Given the description of an element on the screen output the (x, y) to click on. 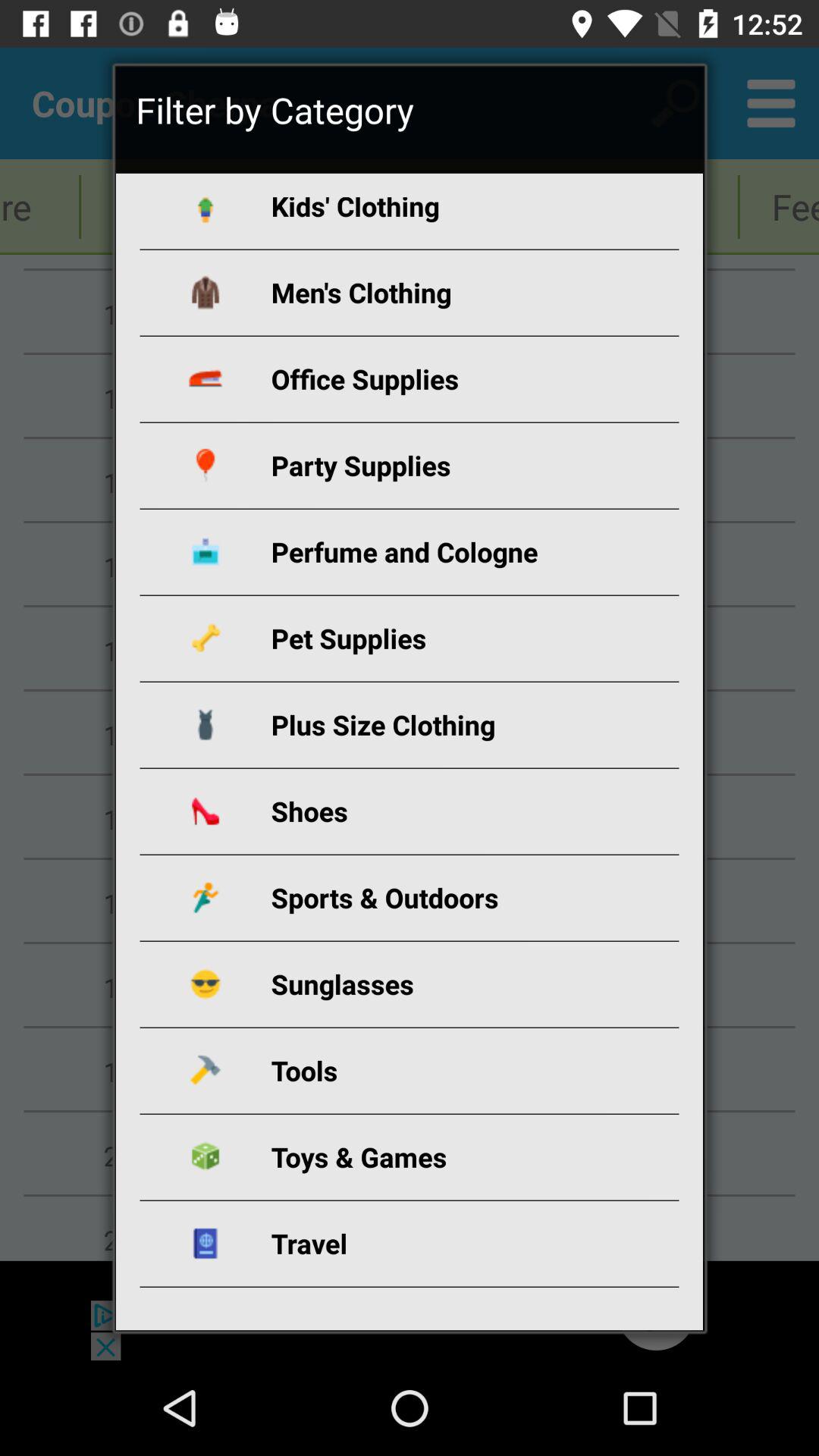
swipe until sports & outdoors (427, 897)
